Given the description of an element on the screen output the (x, y) to click on. 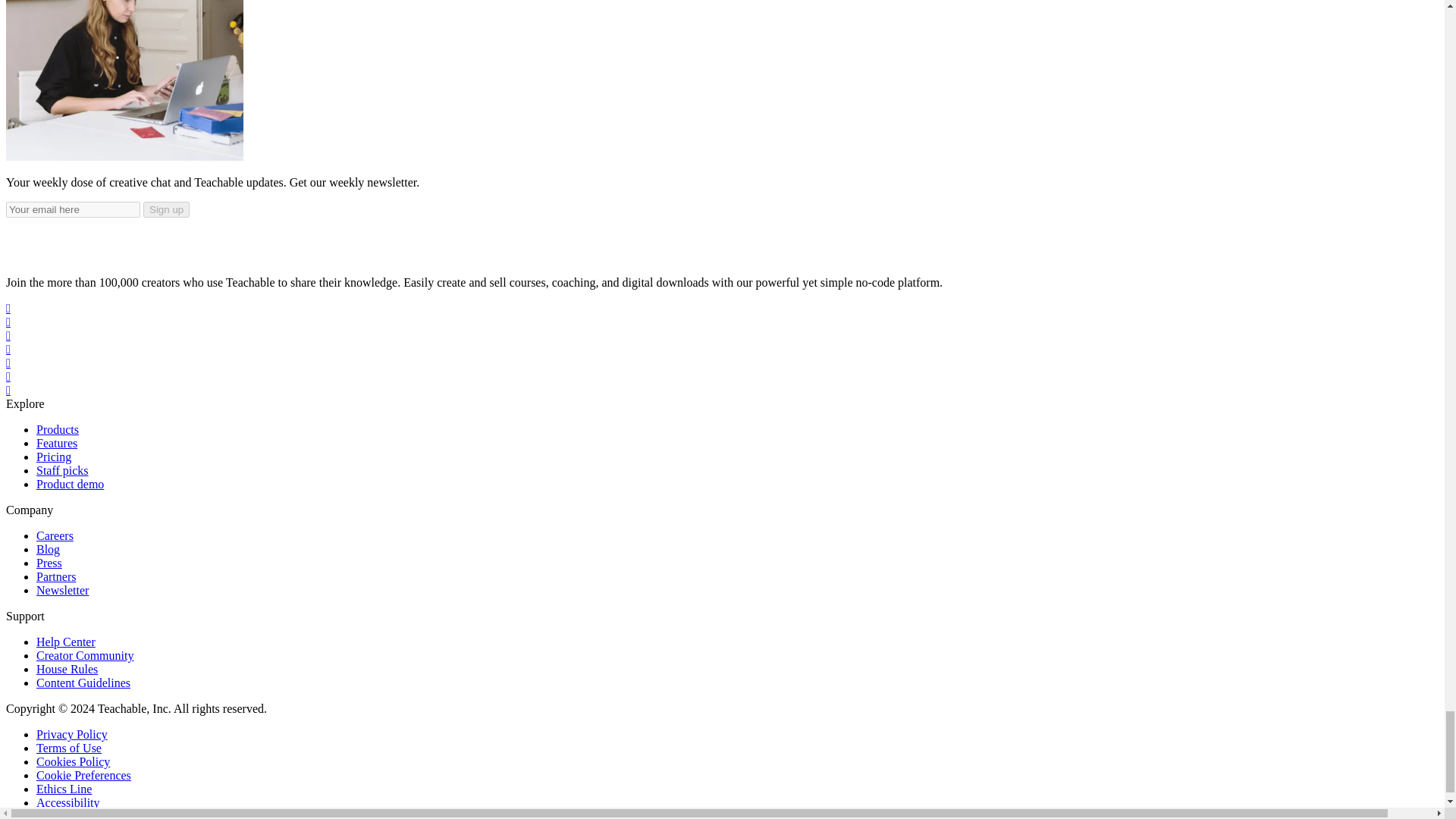
Sign up (165, 209)
